Given the description of an element on the screen output the (x, y) to click on. 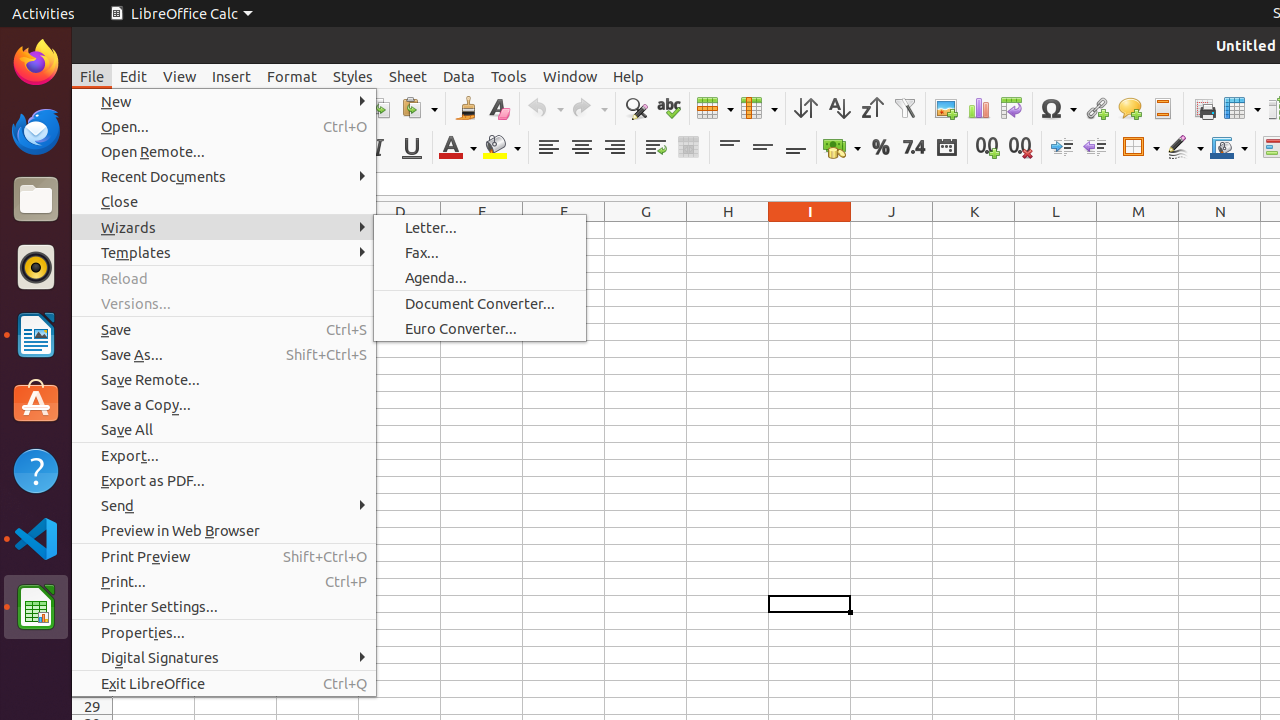
Chart Element type: push-button (978, 108)
Save As... Element type: menu-item (224, 354)
Date Element type: push-button (946, 147)
Border Style Element type: push-button (1185, 147)
Align Bottom Element type: push-button (795, 147)
